Given the description of an element on the screen output the (x, y) to click on. 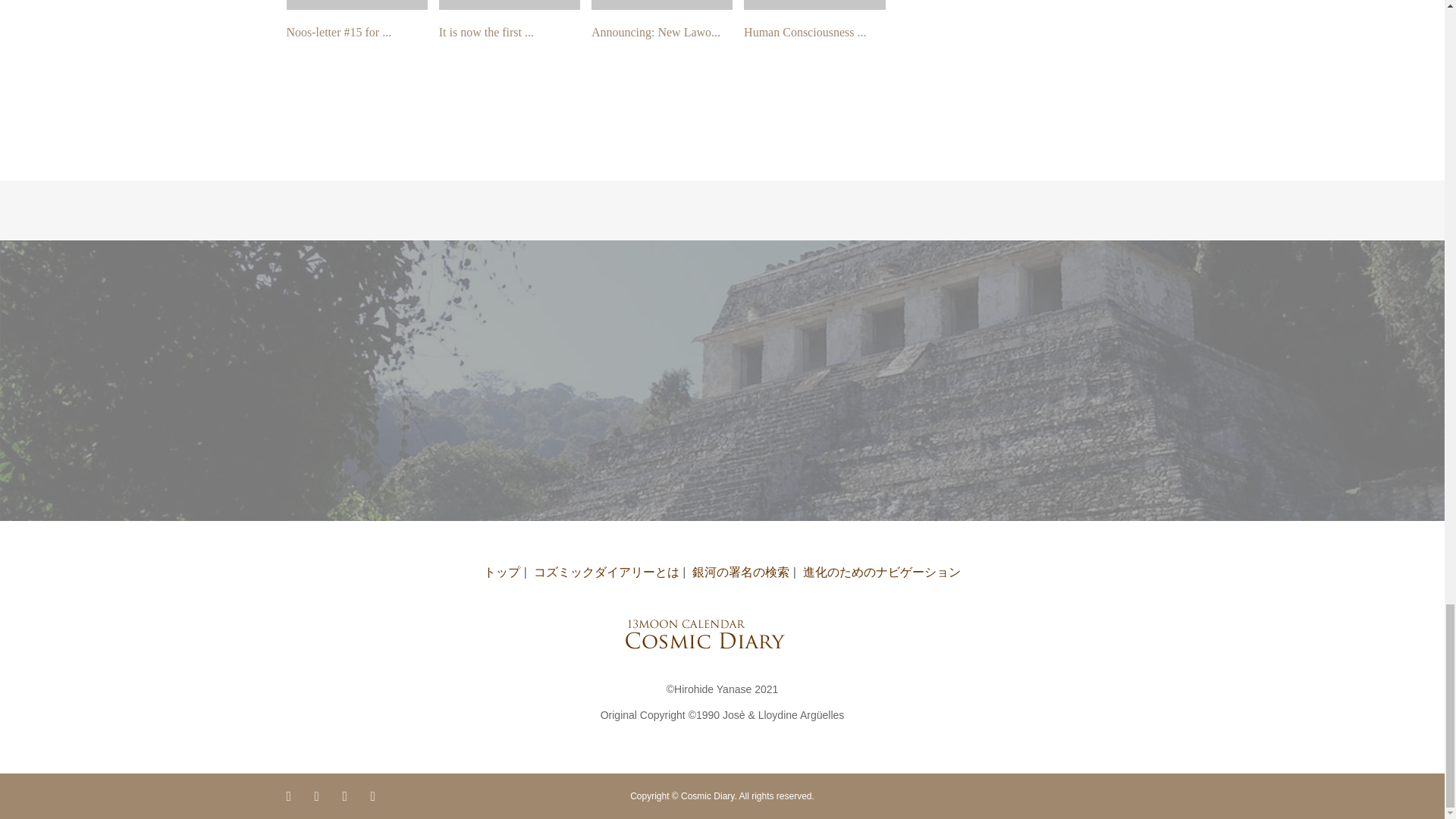
It is now the first ... (486, 31)
